Given the description of an element on the screen output the (x, y) to click on. 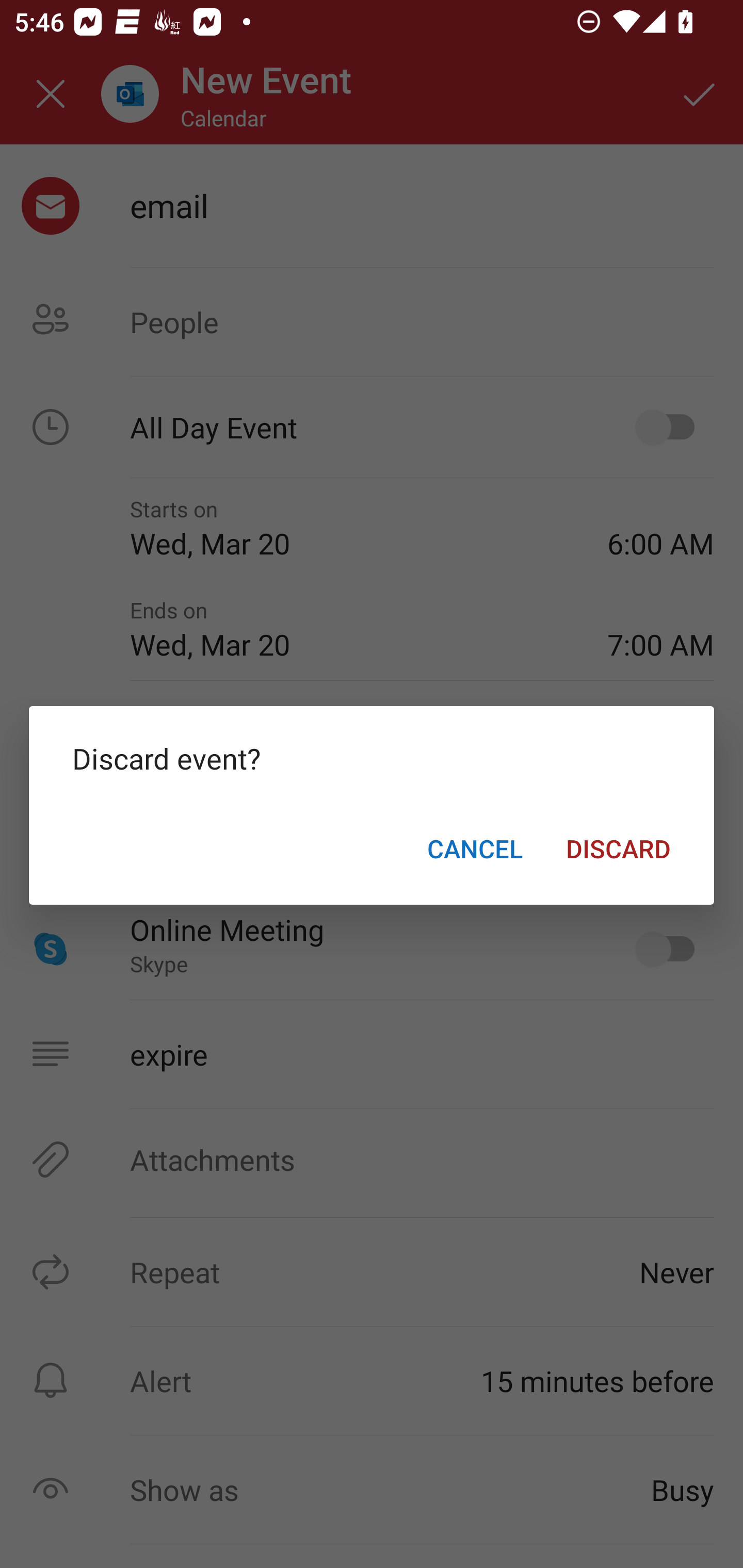
CANCEL (474, 847)
DISCARD (618, 847)
